Given the description of an element on the screen output the (x, y) to click on. 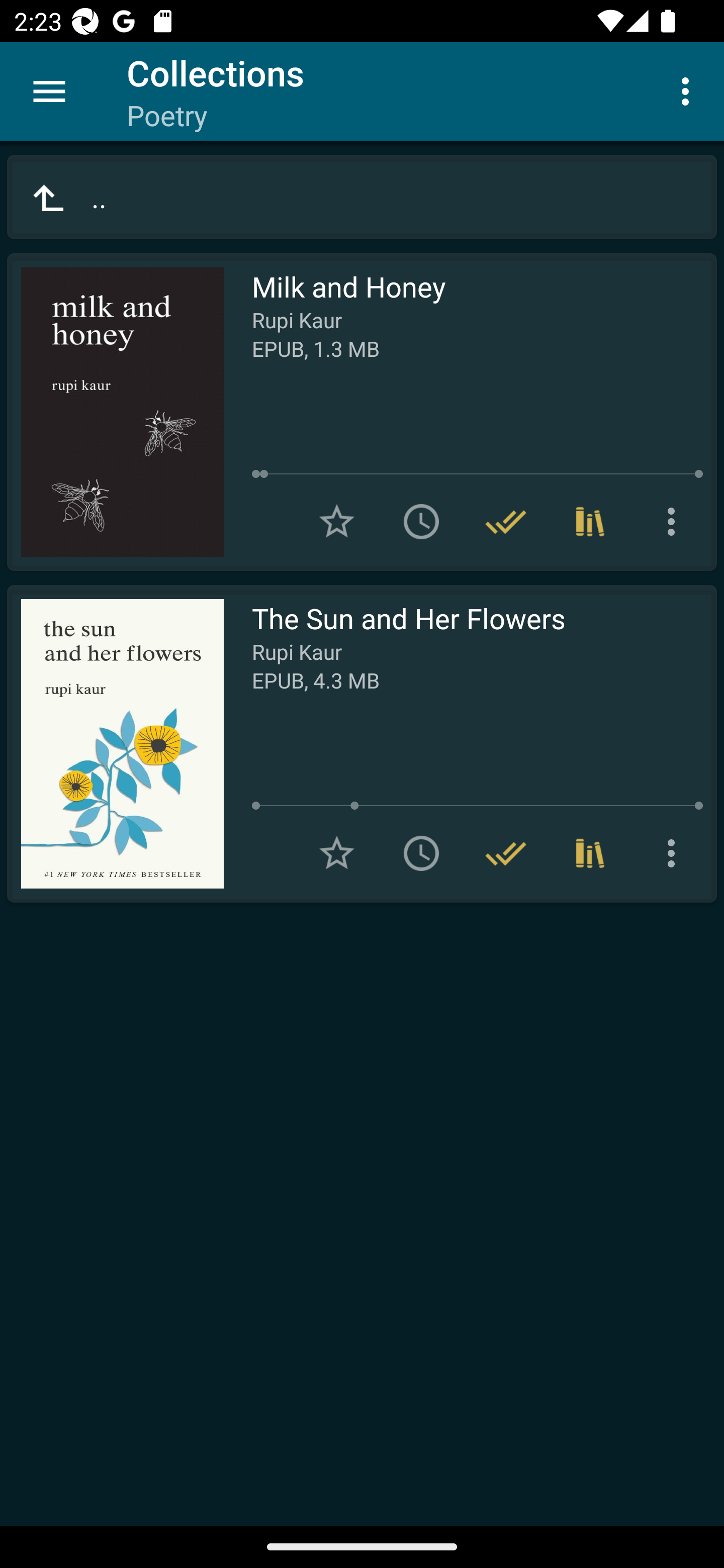
Menu (49, 91)
More options (688, 90)
.. (361, 197)
Read Milk and Honey (115, 412)
Add to Favorites (336, 521)
Add to To read (421, 521)
Remove from Have read (505, 521)
Collections (4) (590, 521)
More options (674, 521)
Read The Sun and Her Flowers (115, 743)
Add to Favorites (336, 852)
Add to To read (421, 852)
Remove from Have read (505, 852)
Collections (1) (590, 852)
More options (674, 852)
